Given the description of an element on the screen output the (x, y) to click on. 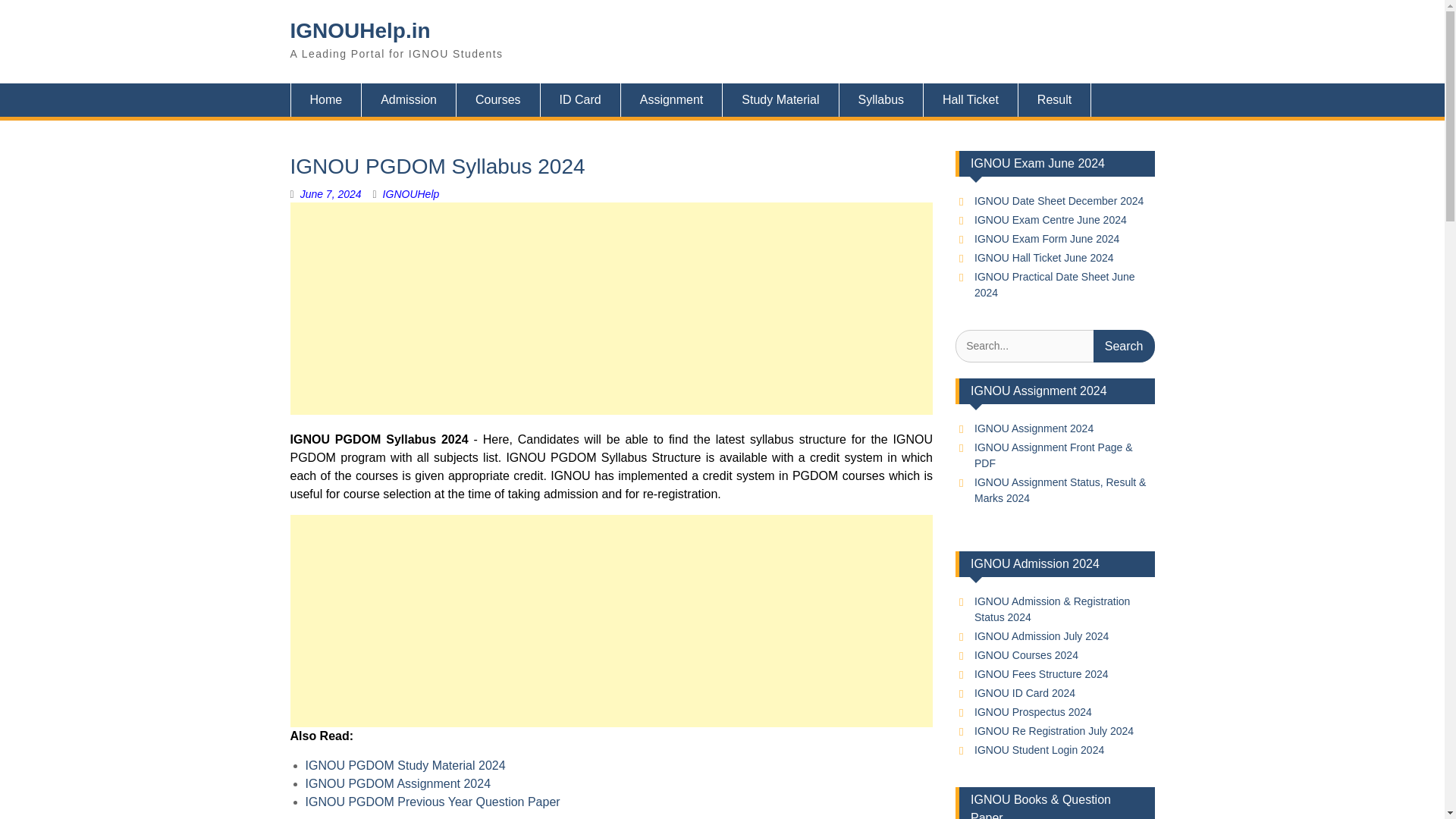
Assignment (672, 100)
IGNOU Assignment 2024 (1033, 428)
Result (1053, 100)
Search (1123, 346)
IGNOUHelp.in (359, 30)
IGNOU PGDOM Previous Year Question Paper (431, 801)
Hall Ticket (970, 100)
IGNOU Hall Ticket June 2024 (1043, 257)
Search for: (1054, 346)
